Given the description of an element on the screen output the (x, y) to click on. 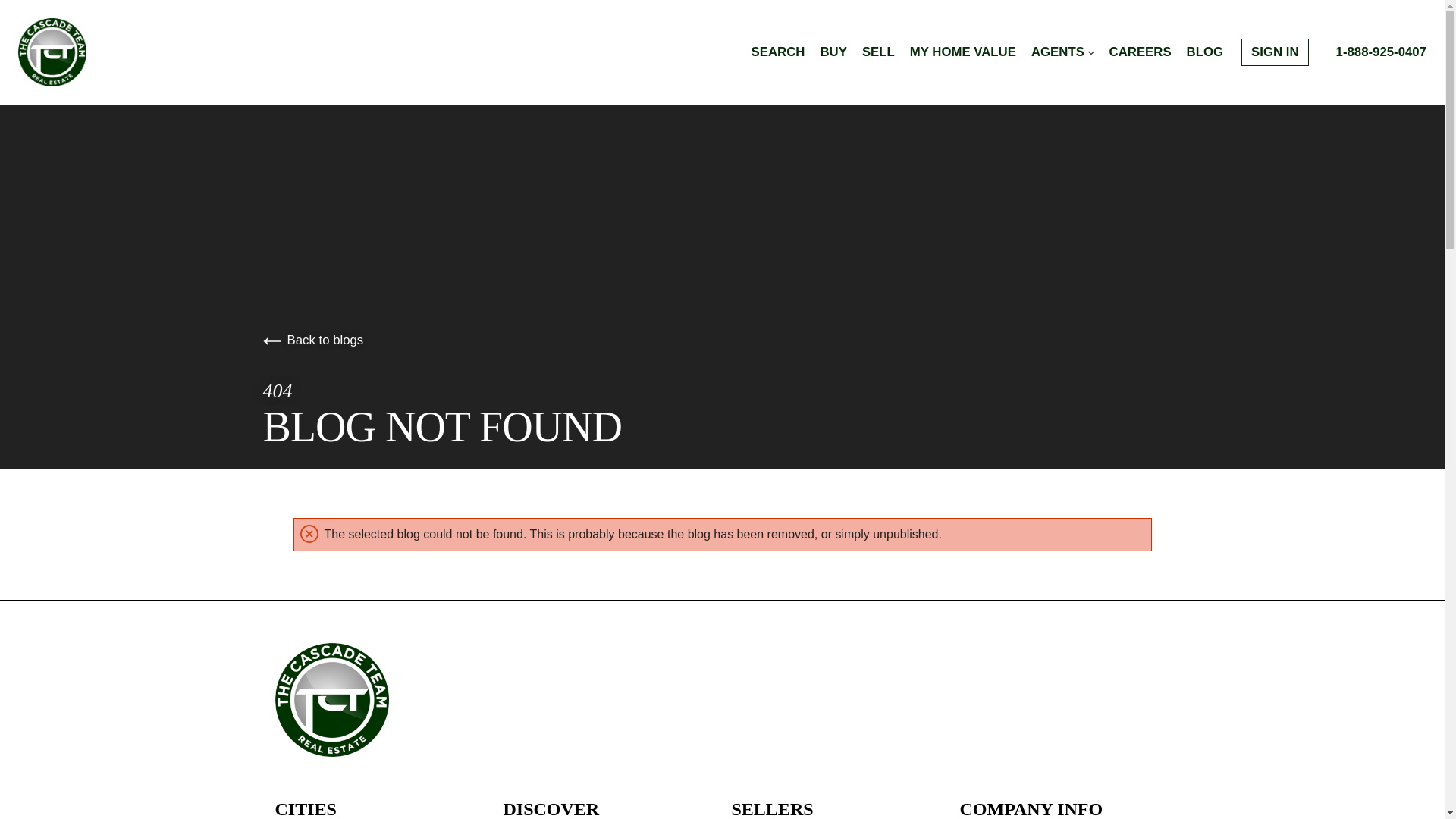
DROPDOWN ARROW (1090, 52)
AGENTS DROPDOWN ARROW (1062, 51)
Back to blogs (312, 339)
BLOG (1204, 51)
SEARCH (778, 51)
SIGN IN (1274, 52)
BUY (832, 51)
MY HOME VALUE (963, 51)
CAREERS (1140, 51)
SELL (878, 51)
